Given the description of an element on the screen output the (x, y) to click on. 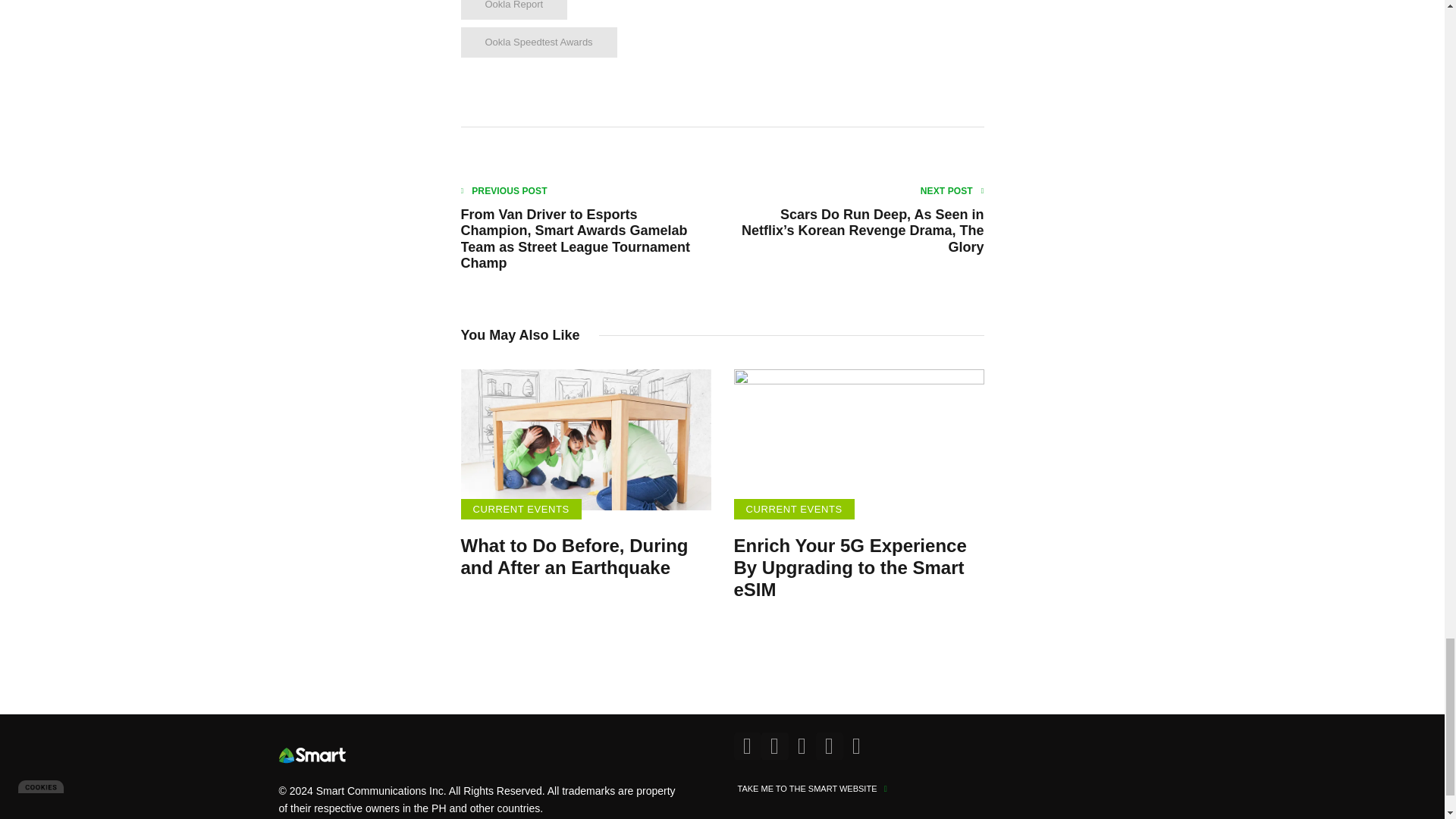
smart-footer (312, 755)
Ookla Report (514, 9)
